Given the description of an element on the screen output the (x, y) to click on. 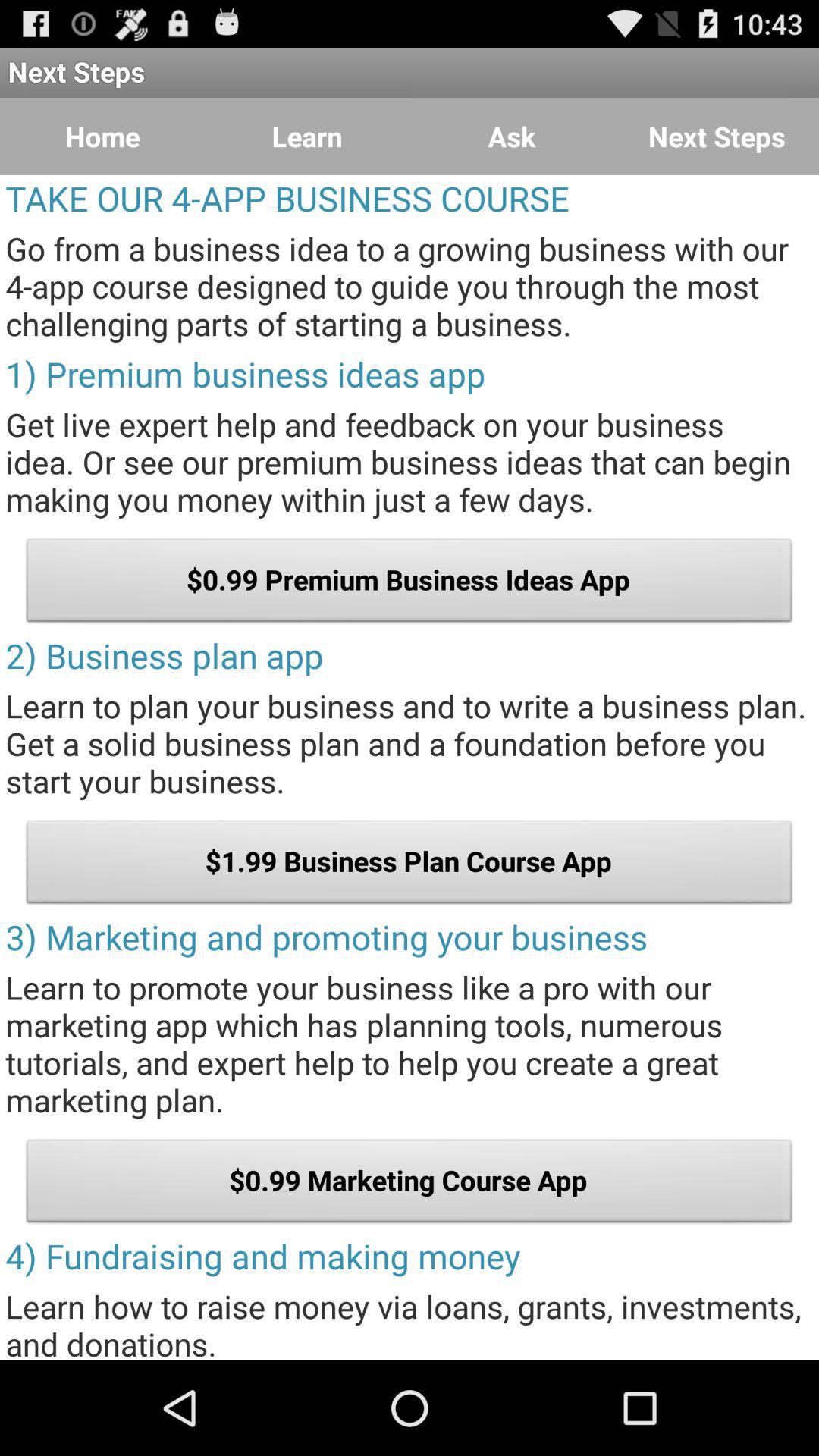
select icon below the next steps item (102, 136)
